Given the description of an element on the screen output the (x, y) to click on. 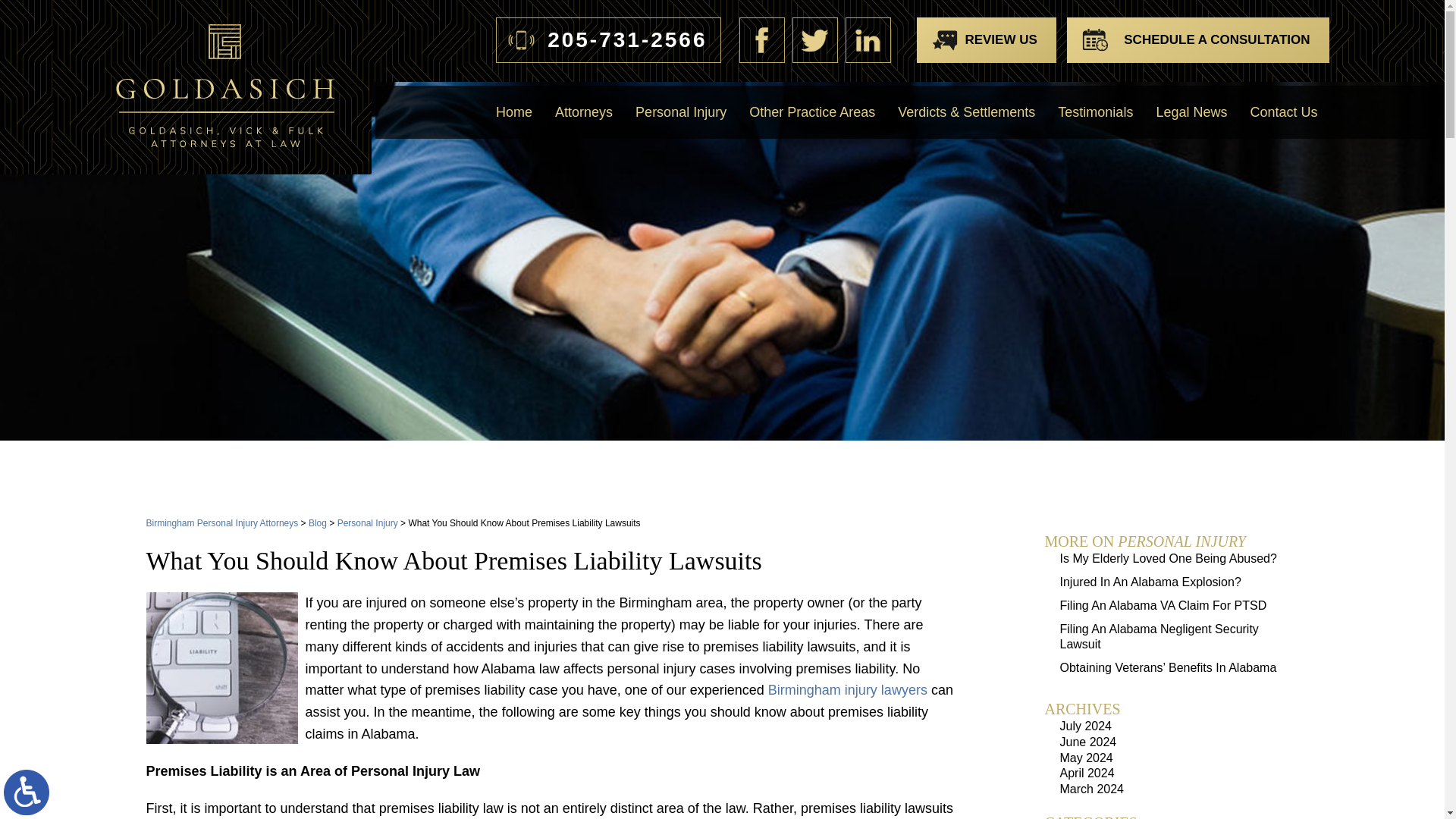
Personal Injury (681, 111)
Other Practice Areas (812, 111)
Home (513, 111)
REVIEW US (986, 39)
Liability6 (221, 667)
SCHEDULE A CONSULTATION (1197, 39)
Switch to ADA Accessible Theme (26, 791)
Attorneys (583, 111)
Testimonials (1095, 111)
205-731-2566 (607, 40)
